Given the description of an element on the screen output the (x, y) to click on. 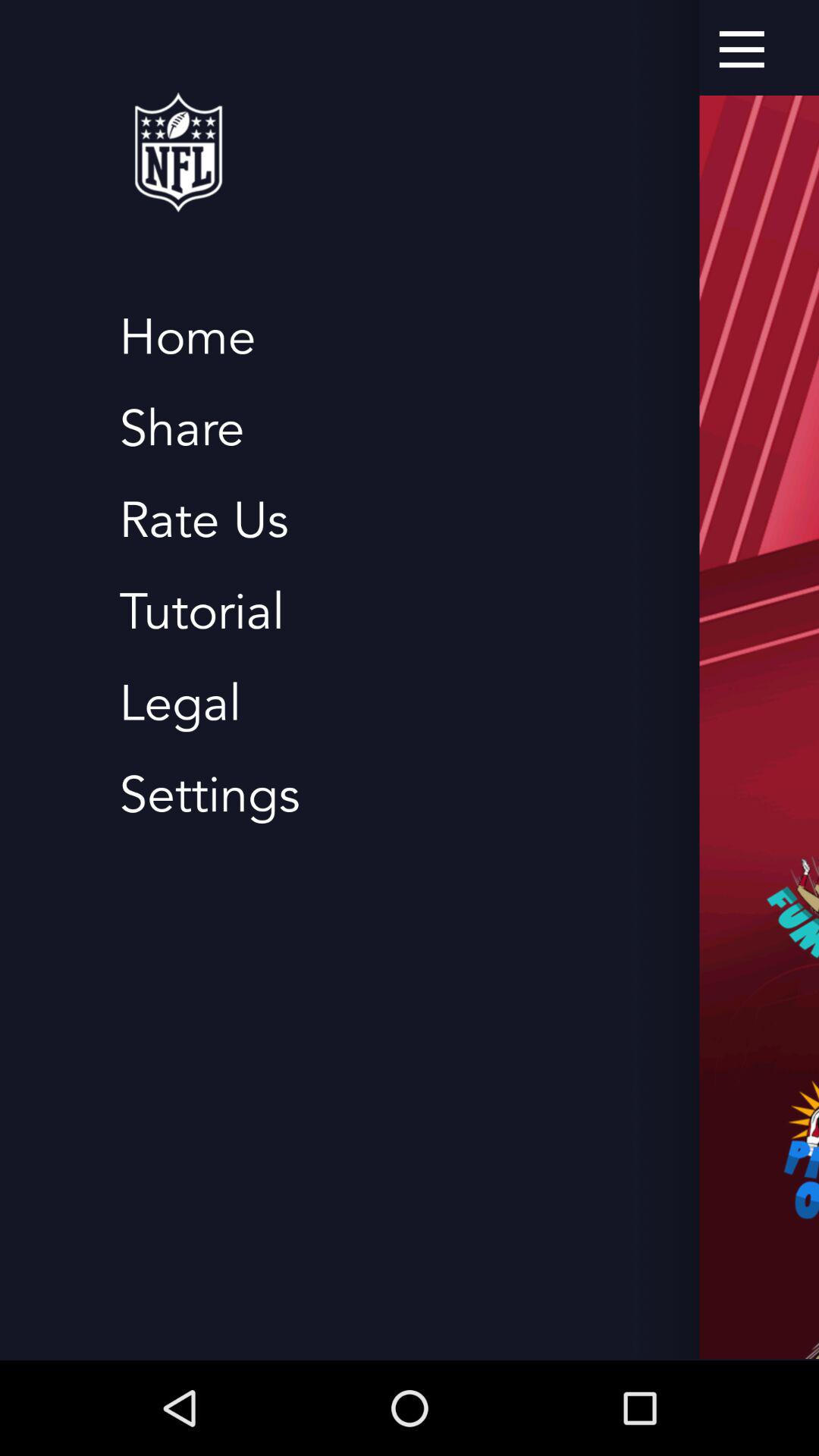
flip to the tutorial (201, 612)
